Given the description of an element on the screen output the (x, y) to click on. 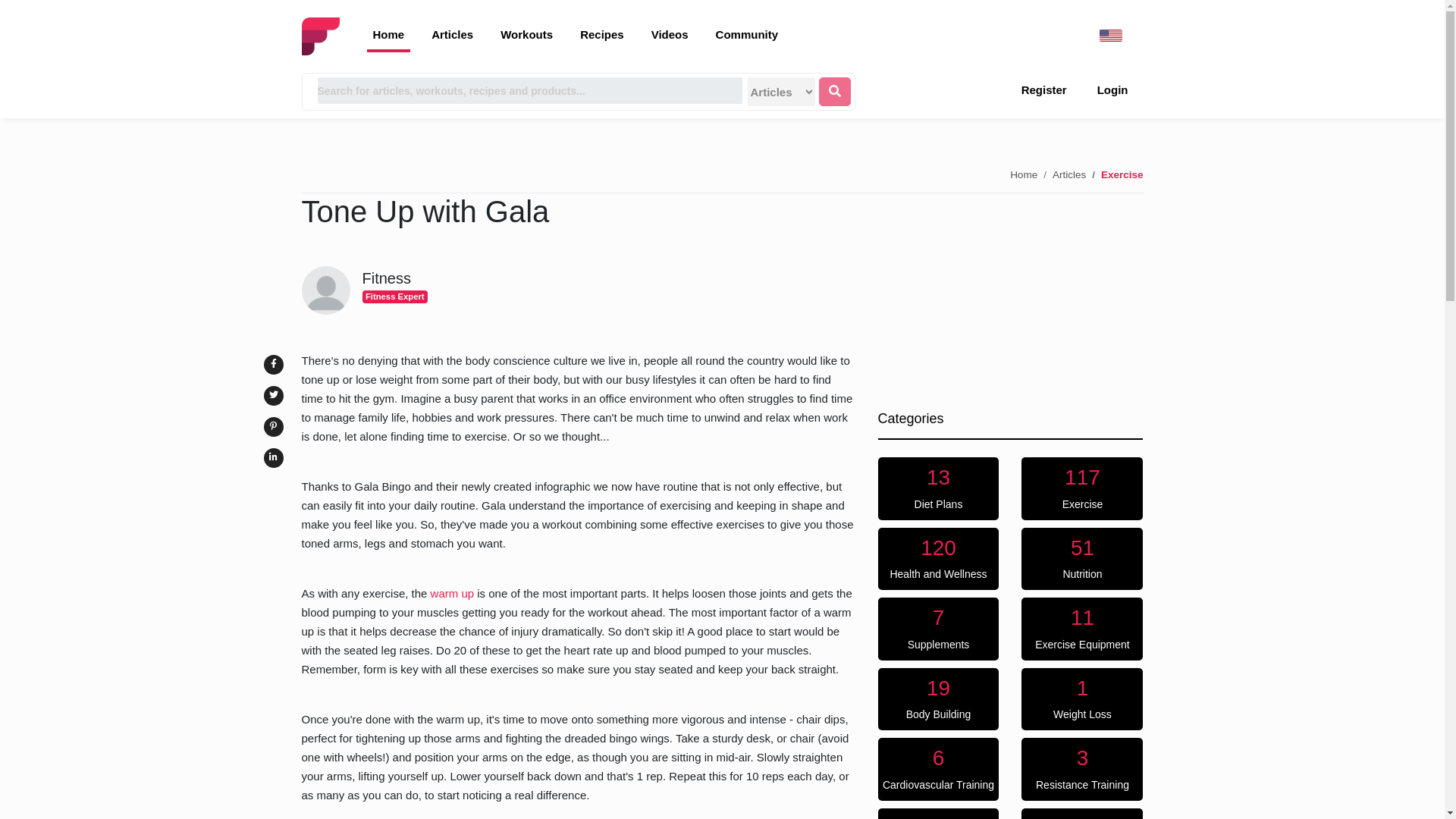
Videos (669, 36)
Home (1082, 558)
Workouts (937, 628)
Articles (937, 699)
